Given the description of an element on the screen output the (x, y) to click on. 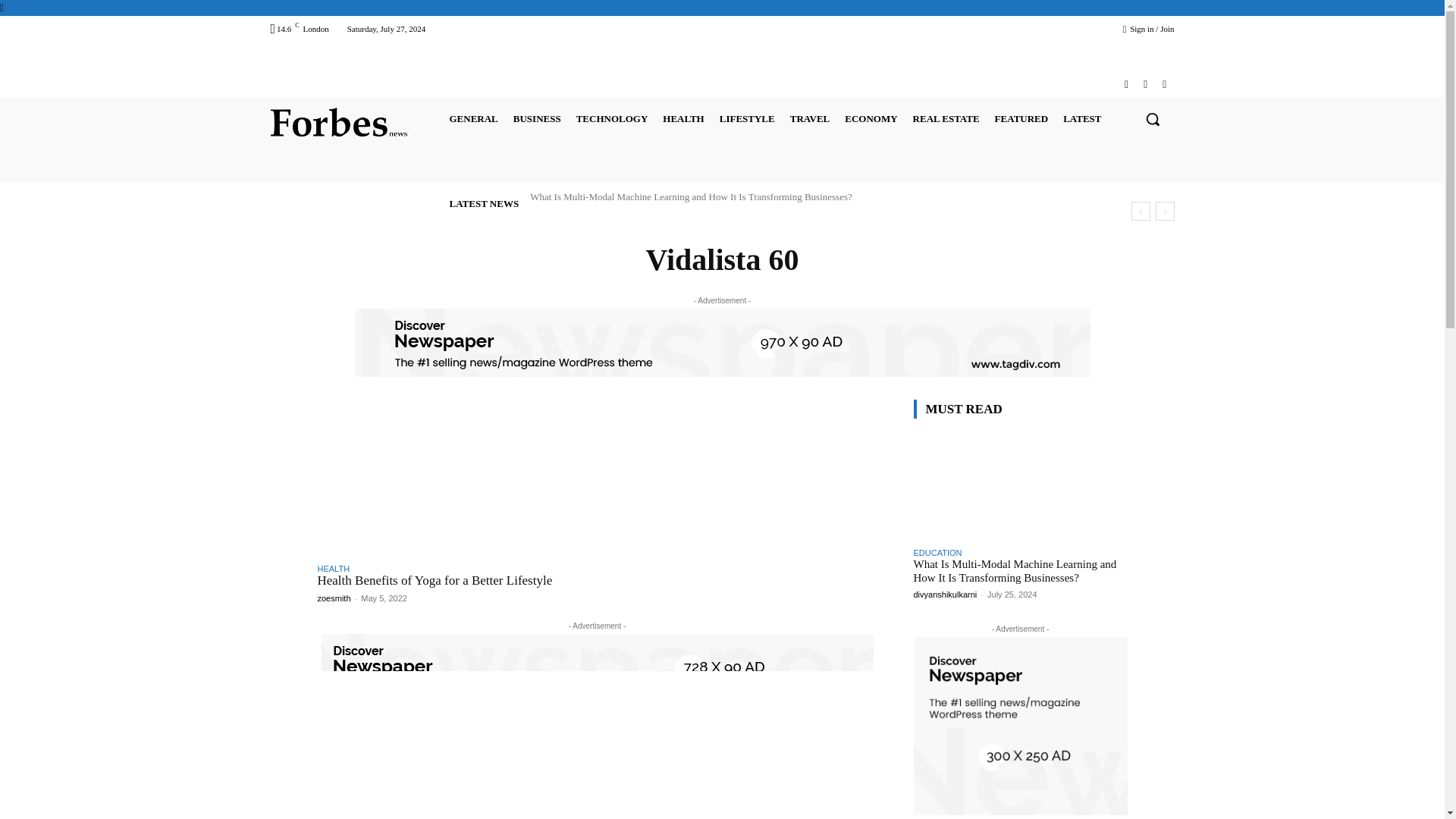
LIFESTYLE (746, 118)
BUSINESS (536, 118)
FEATURED (1021, 118)
GENERAL (472, 118)
Facebook (1125, 84)
TECHNOLOGY (611, 118)
HEALTH (683, 118)
REAL ESTATE (946, 118)
ECONOMY (870, 118)
TRAVEL (809, 118)
